Given the description of an element on the screen output the (x, y) to click on. 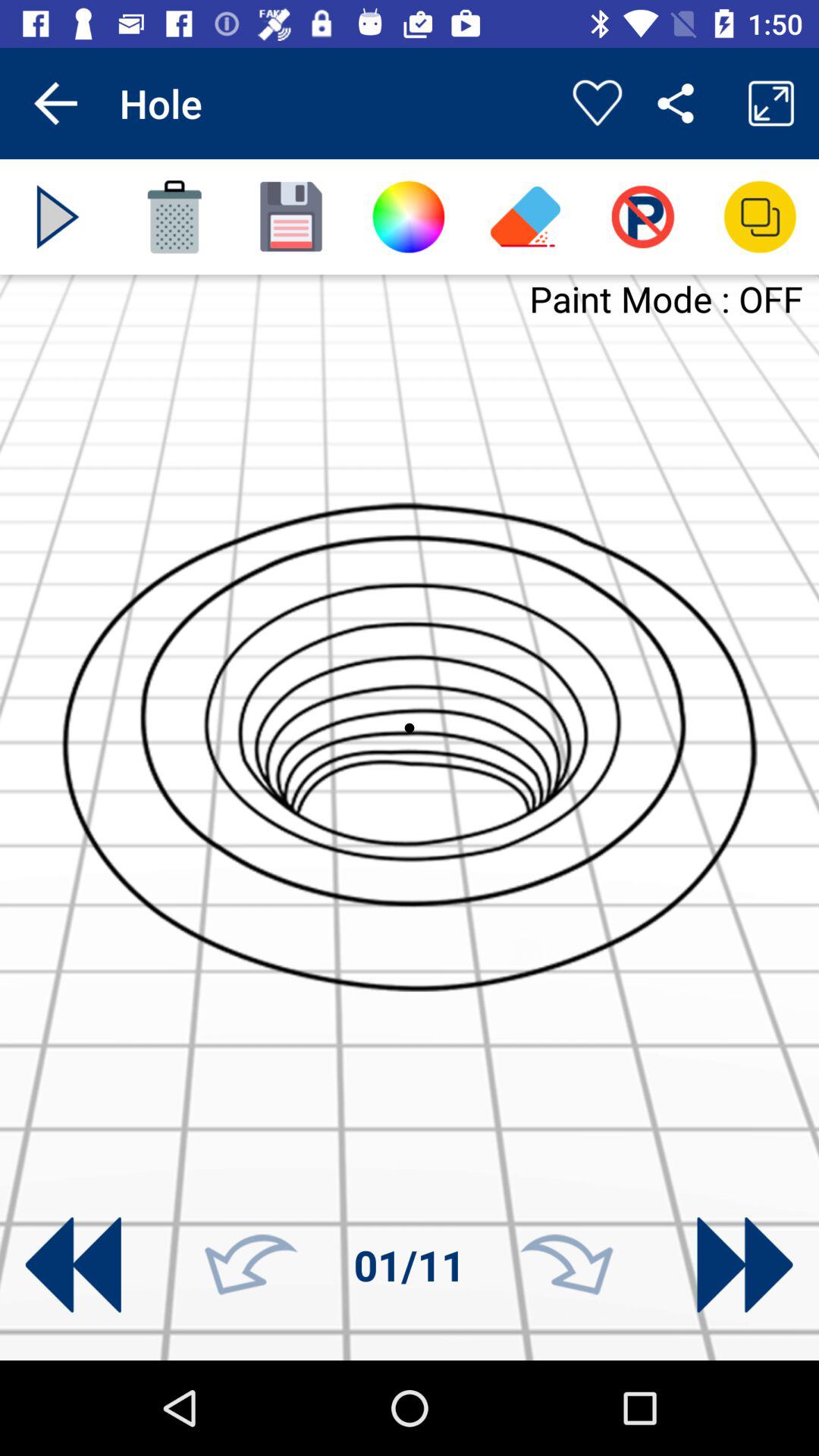
save (291, 216)
